Given the description of an element on the screen output the (x, y) to click on. 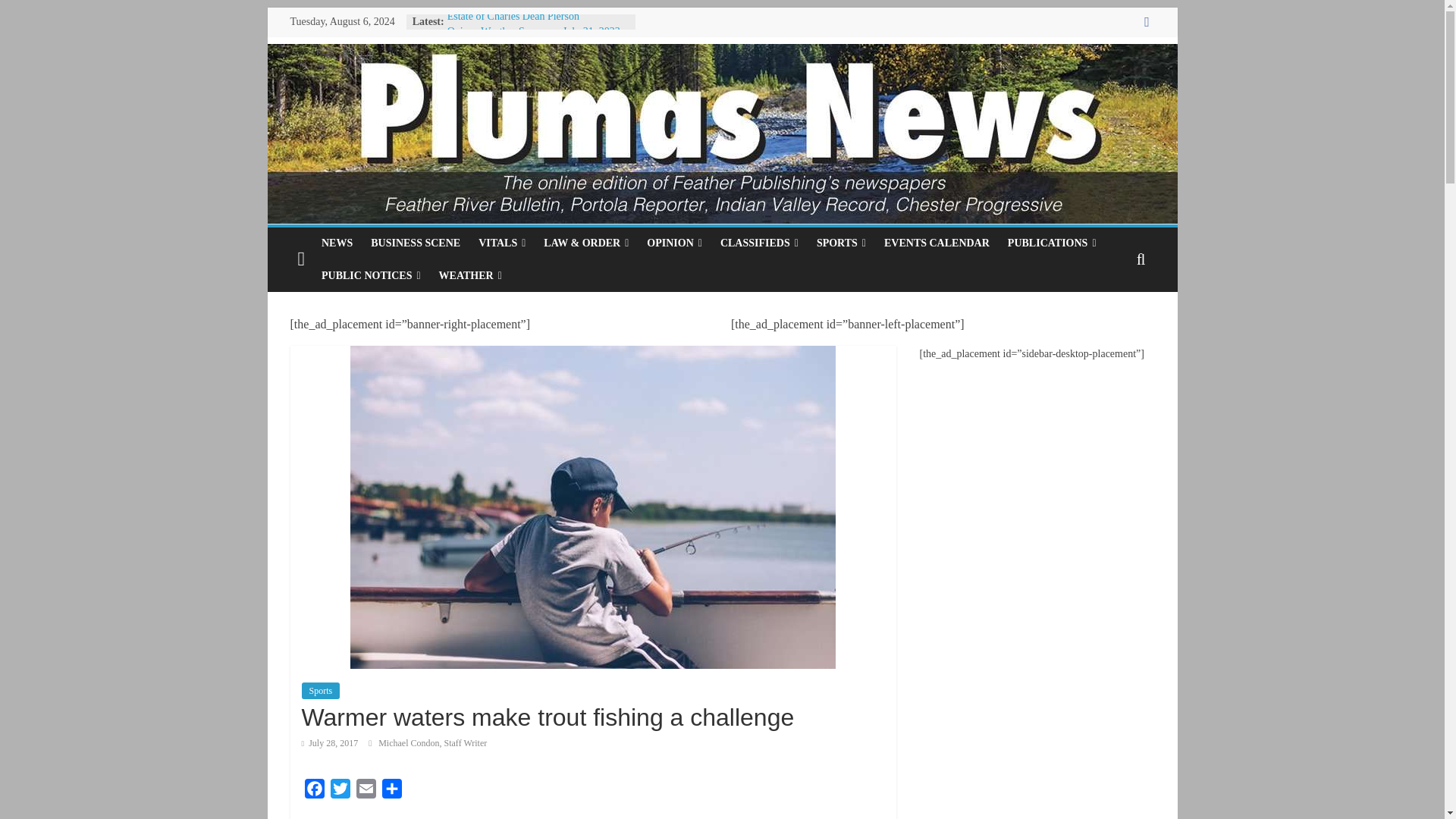
OPINION (674, 243)
7:00 am (329, 742)
SPORTS (841, 243)
Facebook (314, 791)
Quincy Weather Summary July 31, 2023 (533, 30)
Quincy Weather Summary July 31, 2023 (533, 30)
Estate of Charles Dean Pierson (512, 16)
PUBLICATIONS (1051, 243)
Email (365, 791)
Twitter (340, 791)
VITALS (501, 243)
BUSINESS SCENE (414, 243)
NEWS (337, 243)
Estate of Charles Dean Pierson (512, 16)
